Given the description of an element on the screen output the (x, y) to click on. 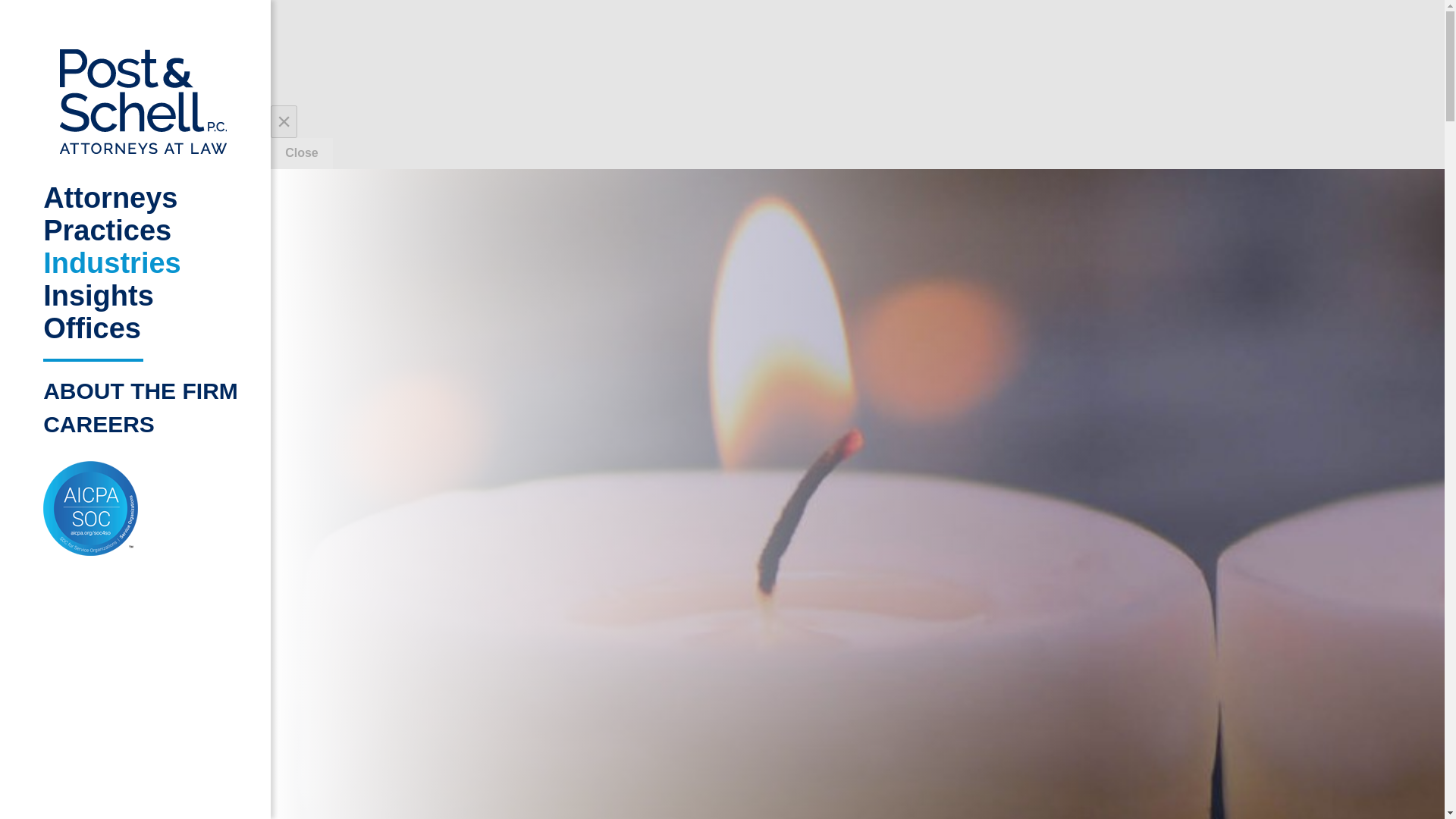
Insights (143, 296)
Attorneys (143, 197)
Practices (143, 230)
Close (301, 153)
ABOUT THE FIRM (143, 391)
Industries (143, 263)
Offices (143, 328)
CAREERS (143, 424)
